Given the description of an element on the screen output the (x, y) to click on. 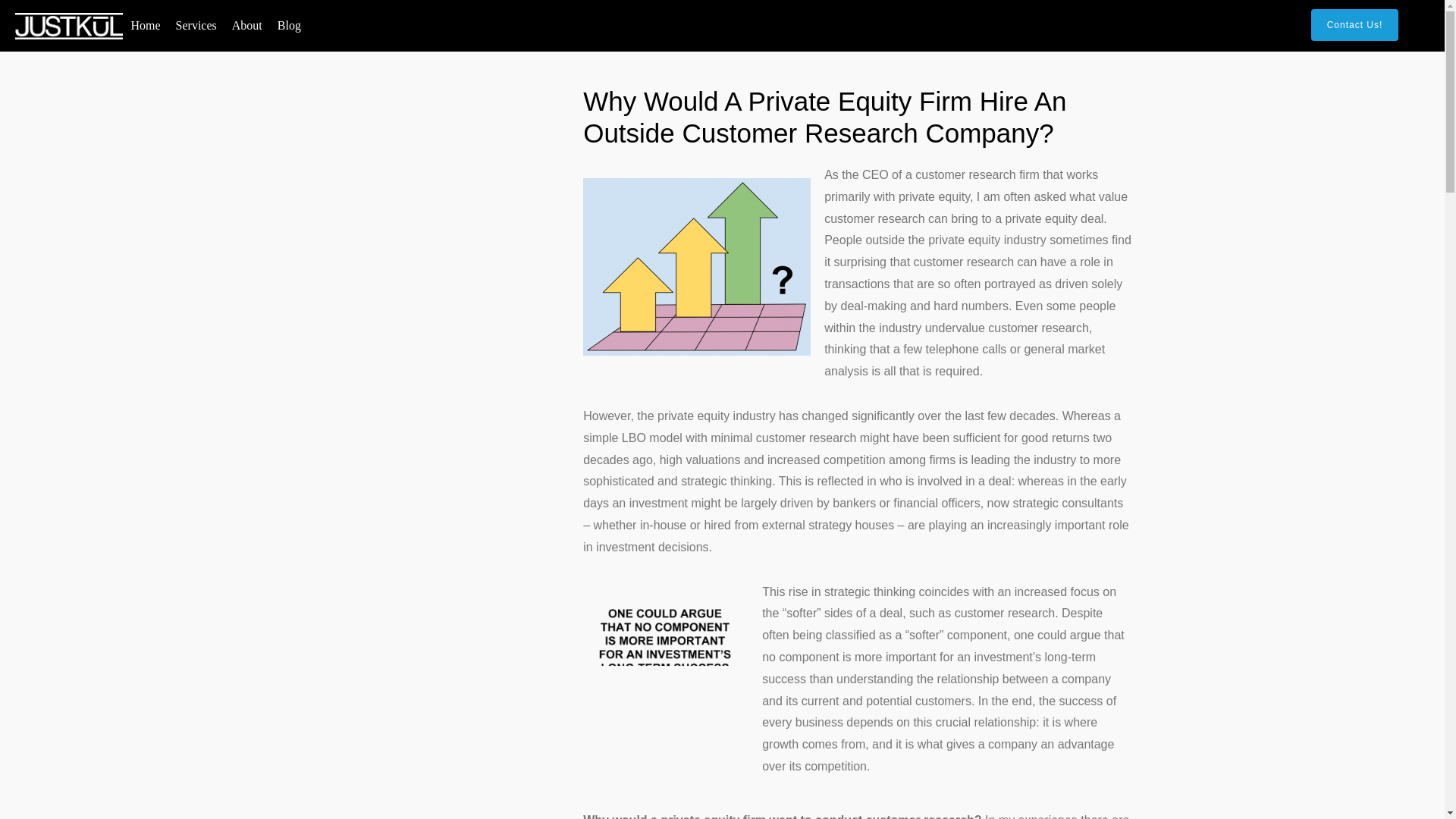
Home (144, 25)
Blog (288, 25)
Contact Us! (1355, 24)
Services (196, 25)
About (246, 25)
